Given the description of an element on the screen output the (x, y) to click on. 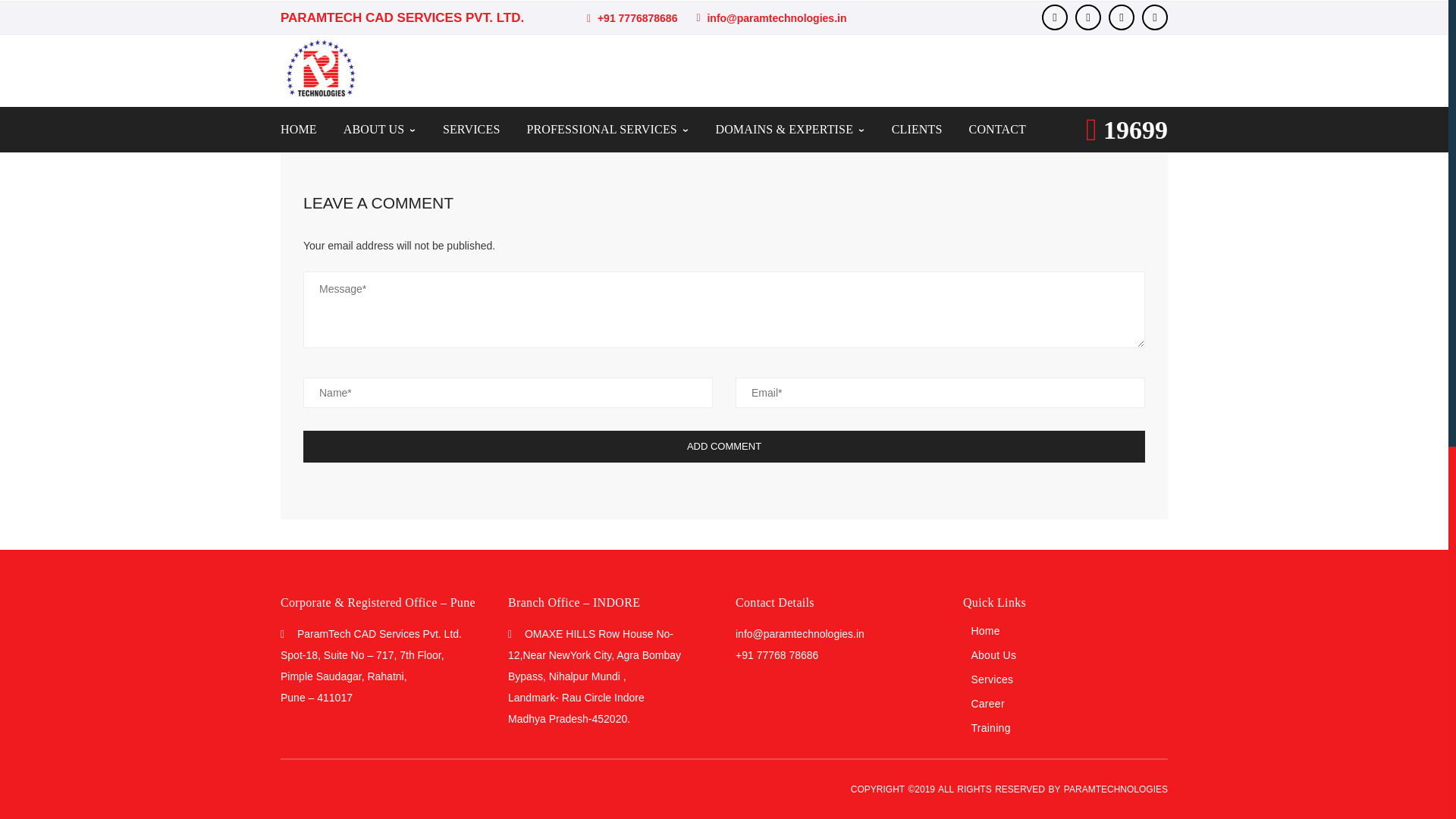
Share on Linkedin (827, 76)
Share on Facebook (734, 76)
Add Comment (723, 446)
Share on Twitter (764, 76)
